Given the description of an element on the screen output the (x, y) to click on. 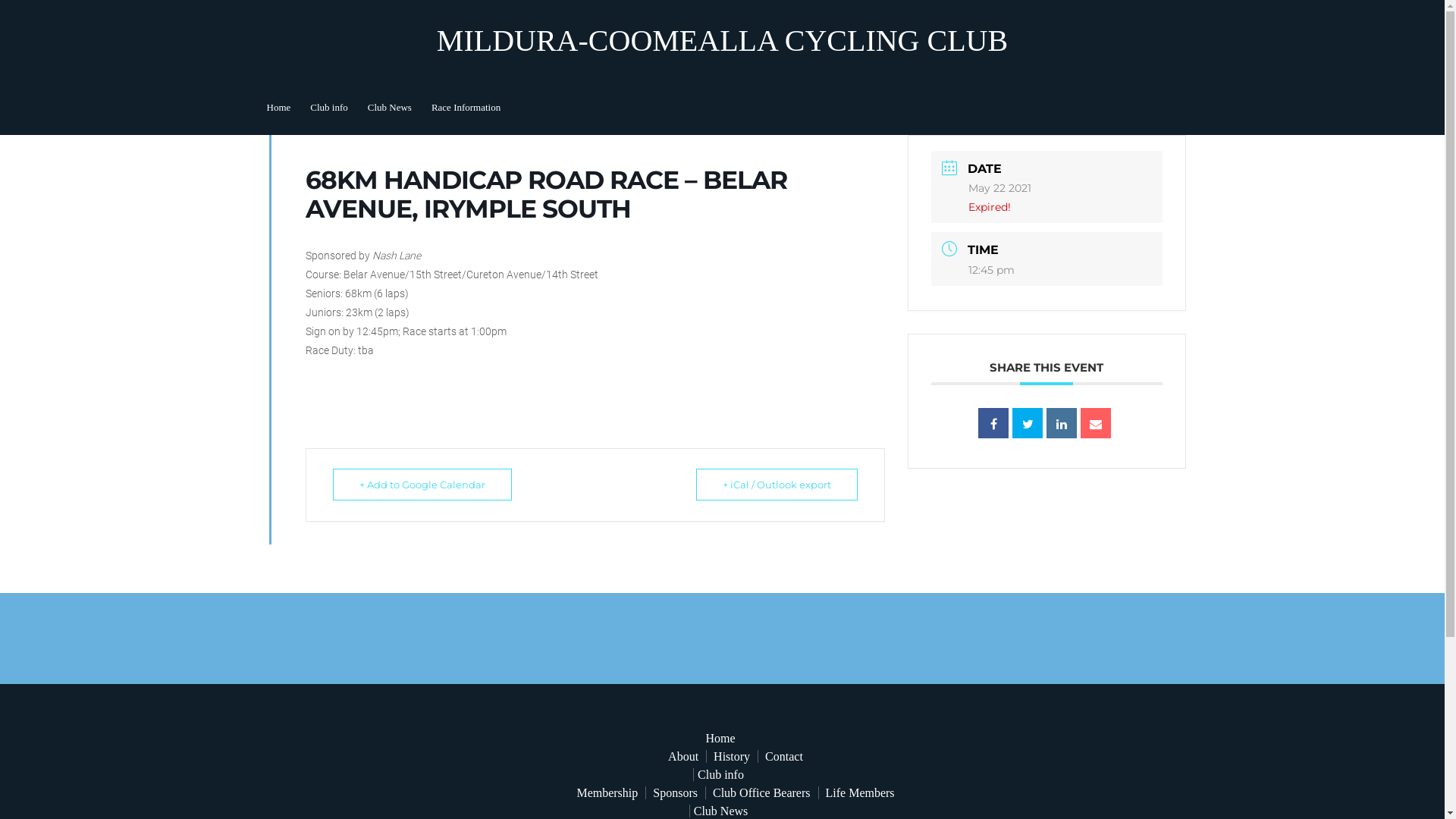
Home Element type: text (719, 738)
+ iCal / Outlook export Element type: text (776, 484)
Club info Element type: text (720, 774)
Club Office Bearers Element type: text (761, 792)
Club News Element type: text (389, 107)
Tweet Element type: hover (1027, 422)
Contact Element type: text (783, 756)
+ Add to Google Calendar Element type: text (421, 484)
About Element type: text (683, 756)
Club info Element type: text (328, 107)
Home Element type: text (277, 107)
Race Information Element type: text (465, 107)
Life Members Element type: text (860, 792)
MILDURA-COOMEALLA CYCLING CLUB Element type: text (721, 40)
Sponsors Element type: text (675, 792)
Membership Element type: text (606, 792)
Linkedin Element type: hover (1061, 422)
History Element type: text (731, 756)
Share on Facebook Element type: hover (993, 422)
Email Element type: hover (1095, 422)
